Given the description of an element on the screen output the (x, y) to click on. 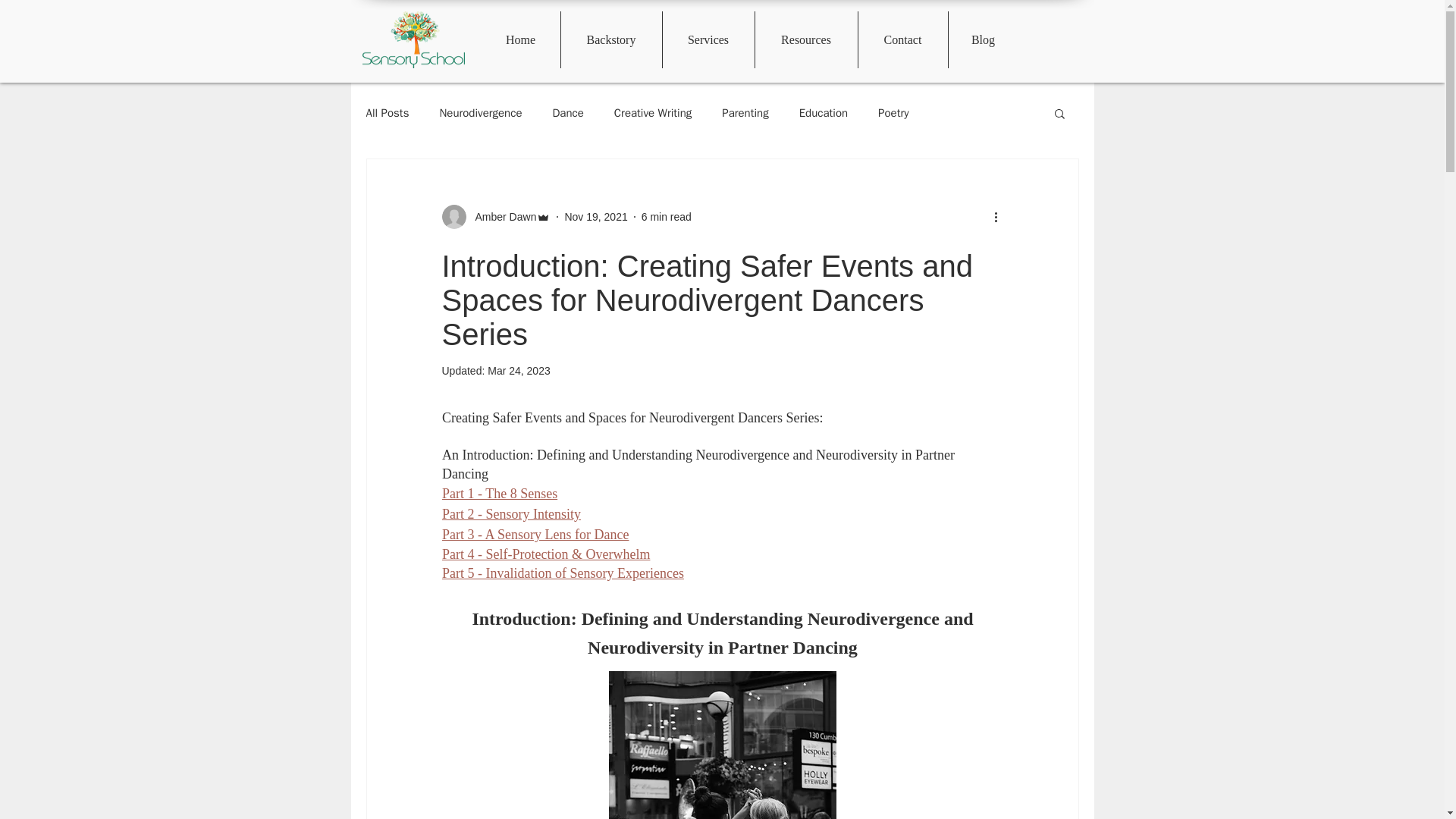
Part 1 - The 8 Senses (498, 493)
Contact (903, 39)
Education (823, 113)
Dance (567, 113)
Poetry (892, 113)
All Posts (387, 113)
Resources (806, 39)
Home (519, 39)
Part 5 - Invalidation of Sensory Experiences (561, 572)
Services (708, 39)
Amber Dawn (500, 217)
Neurodivergence (480, 113)
Amber Dawn (495, 216)
Parenting (745, 113)
Part 2 - Sensory Intensity (510, 513)
